Given the description of an element on the screen output the (x, y) to click on. 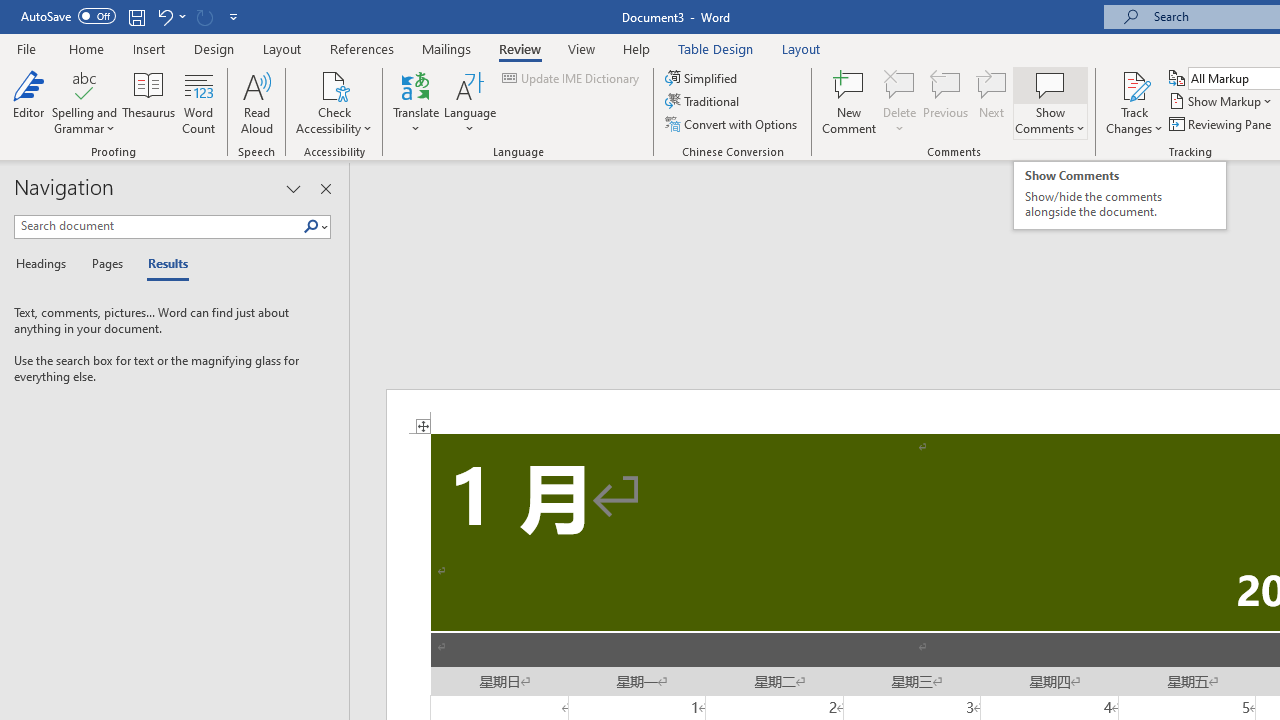
Show Markup (1222, 101)
Word Count (198, 102)
Thesaurus... (148, 102)
Language (470, 102)
Translate (415, 102)
